Given the description of an element on the screen output the (x, y) to click on. 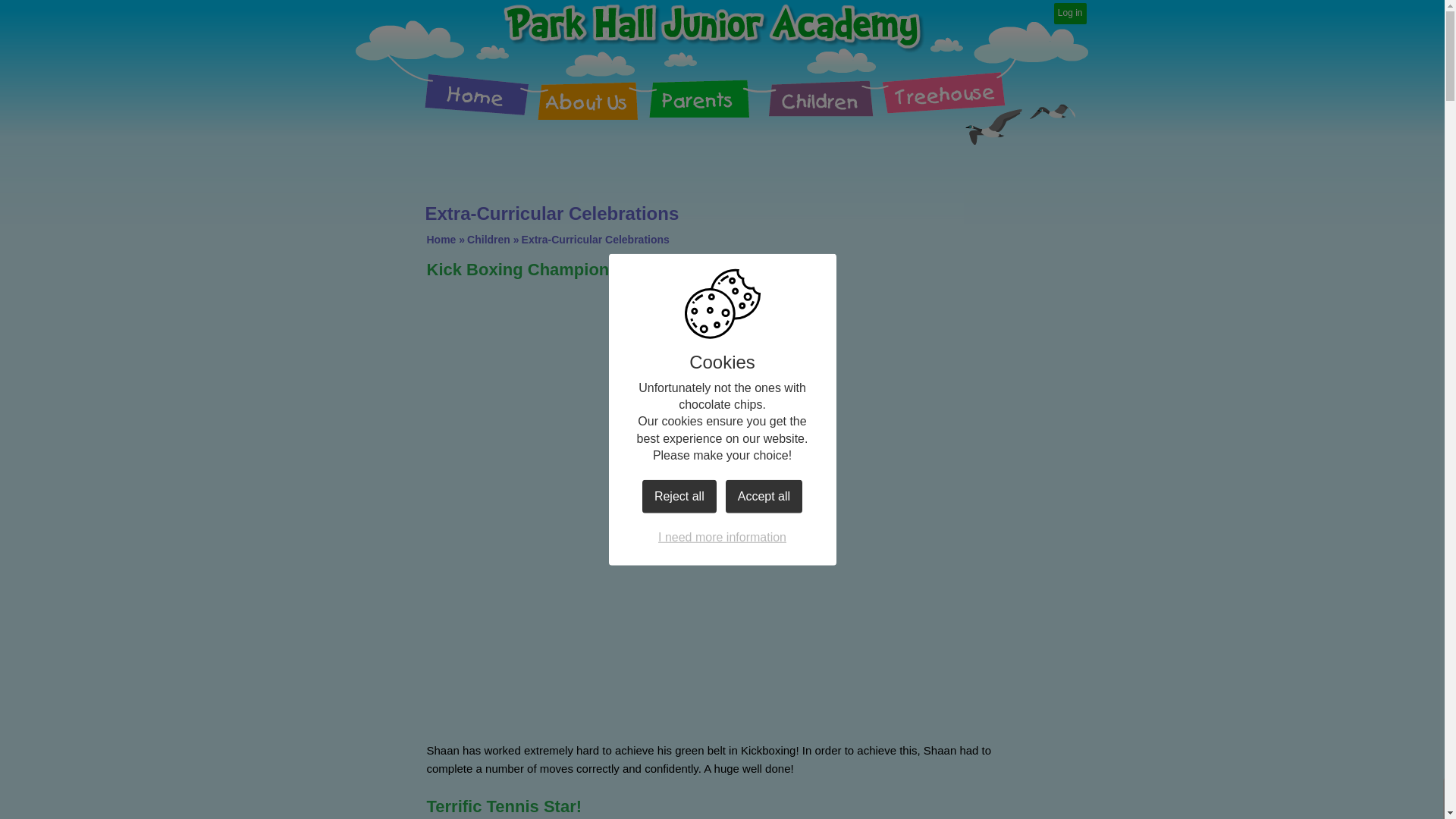
Home Page (712, 26)
About Us (592, 86)
Home (462, 86)
Home Page (712, 26)
Log in (1070, 13)
Home (440, 239)
Extra-Curricular Celebrations (595, 239)
Children (489, 239)
